Given the description of an element on the screen output the (x, y) to click on. 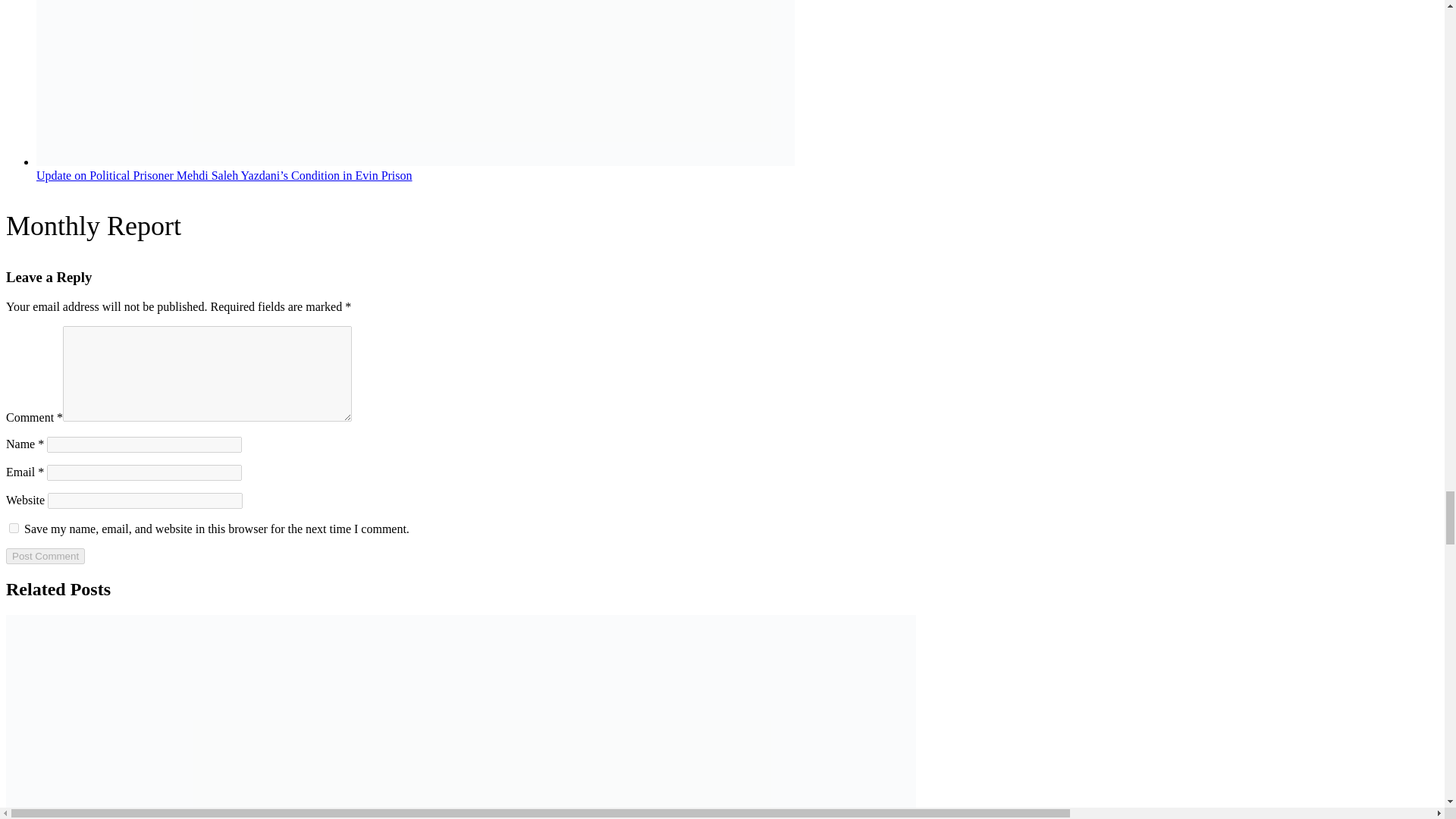
Post Comment (44, 555)
yes (13, 528)
